Given the description of an element on the screen output the (x, y) to click on. 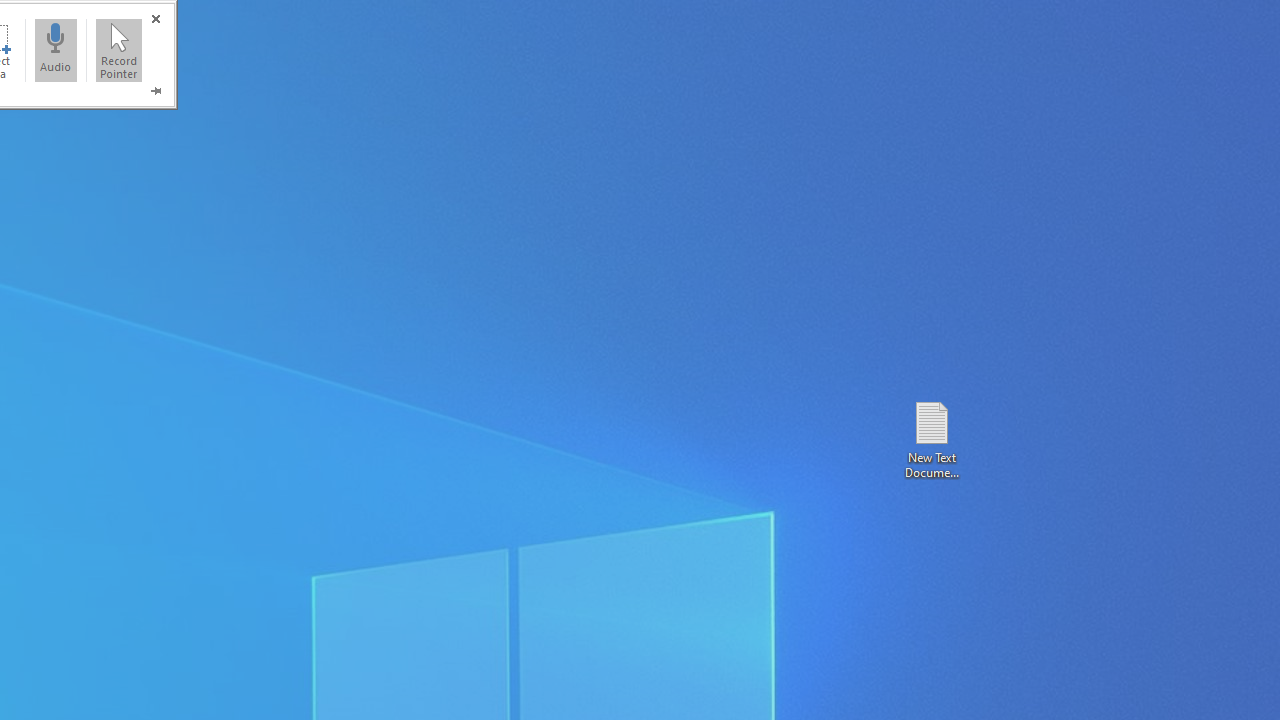
Close (Windows logo key+Shift+Q) (155, 18)
Record Pointer (119, 50)
Pin the Dock (Windows logo key+Shift+I) (155, 90)
